Given the description of an element on the screen output the (x, y) to click on. 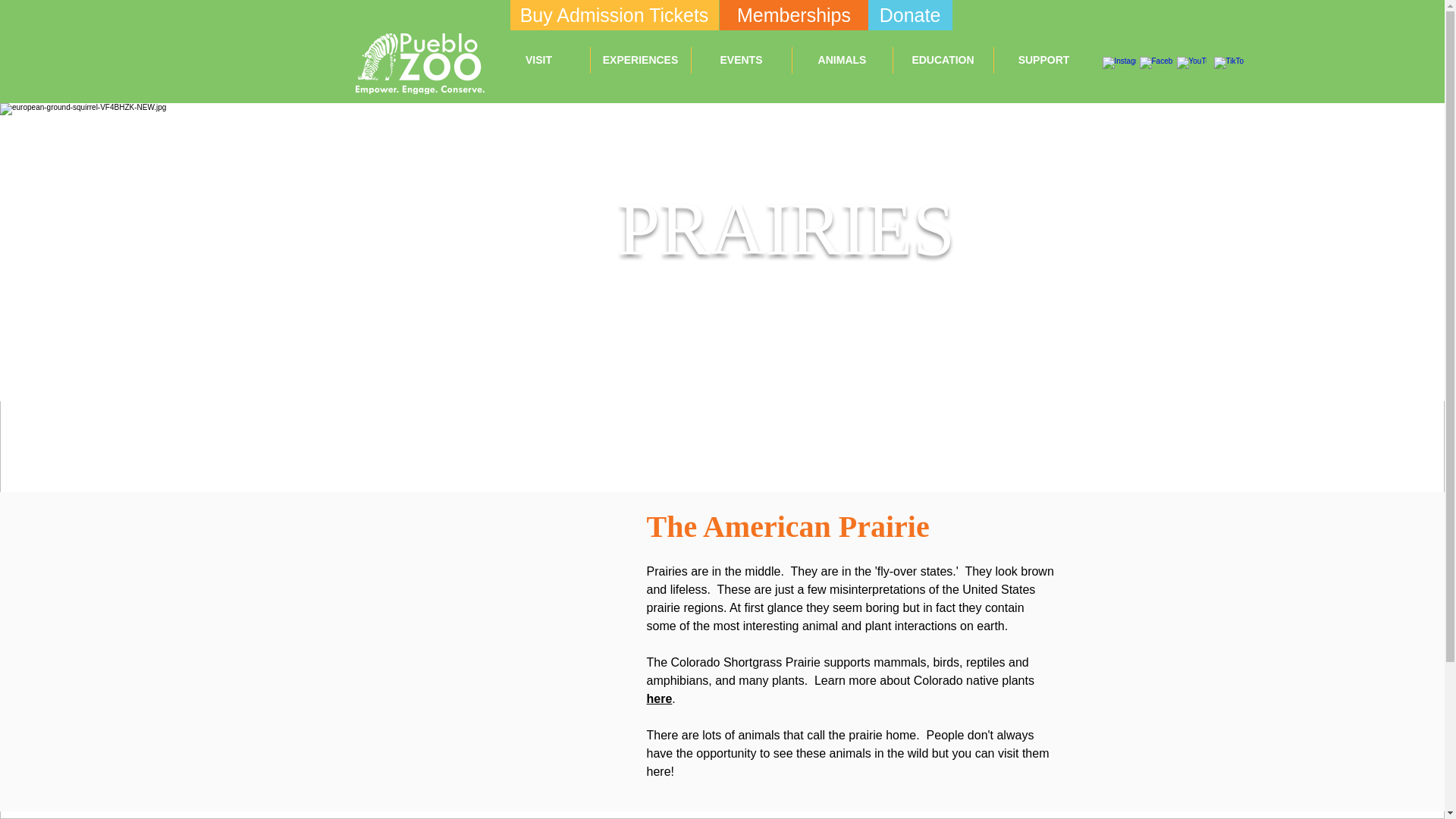
Donate (909, 15)
. (673, 698)
here (658, 698)
Buy Admission Tickets (613, 15)
Memberships (793, 15)
